Given the description of an element on the screen output the (x, y) to click on. 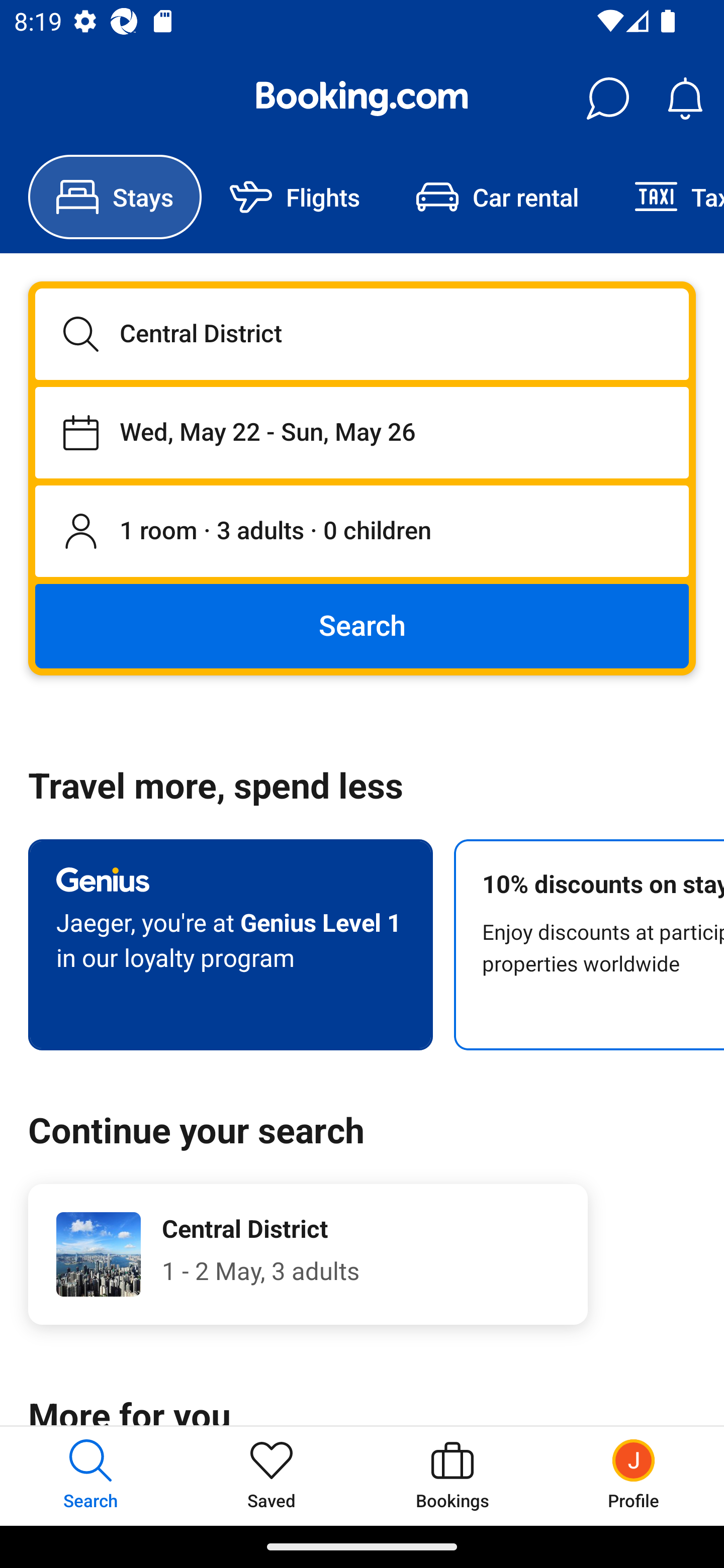
Messages (607, 98)
Notifications (685, 98)
Stays (114, 197)
Flights (294, 197)
Car rental (497, 197)
Taxi (665, 197)
Central District (361, 333)
Staying from Wed, May 22 until Sun, May 26 (361, 432)
1 room, 3 adults, 0 children (361, 531)
Search (361, 625)
Central District 1 - 2 May, 3 adults (307, 1253)
Saved (271, 1475)
Bookings (452, 1475)
Profile (633, 1475)
